Given the description of an element on the screen output the (x, y) to click on. 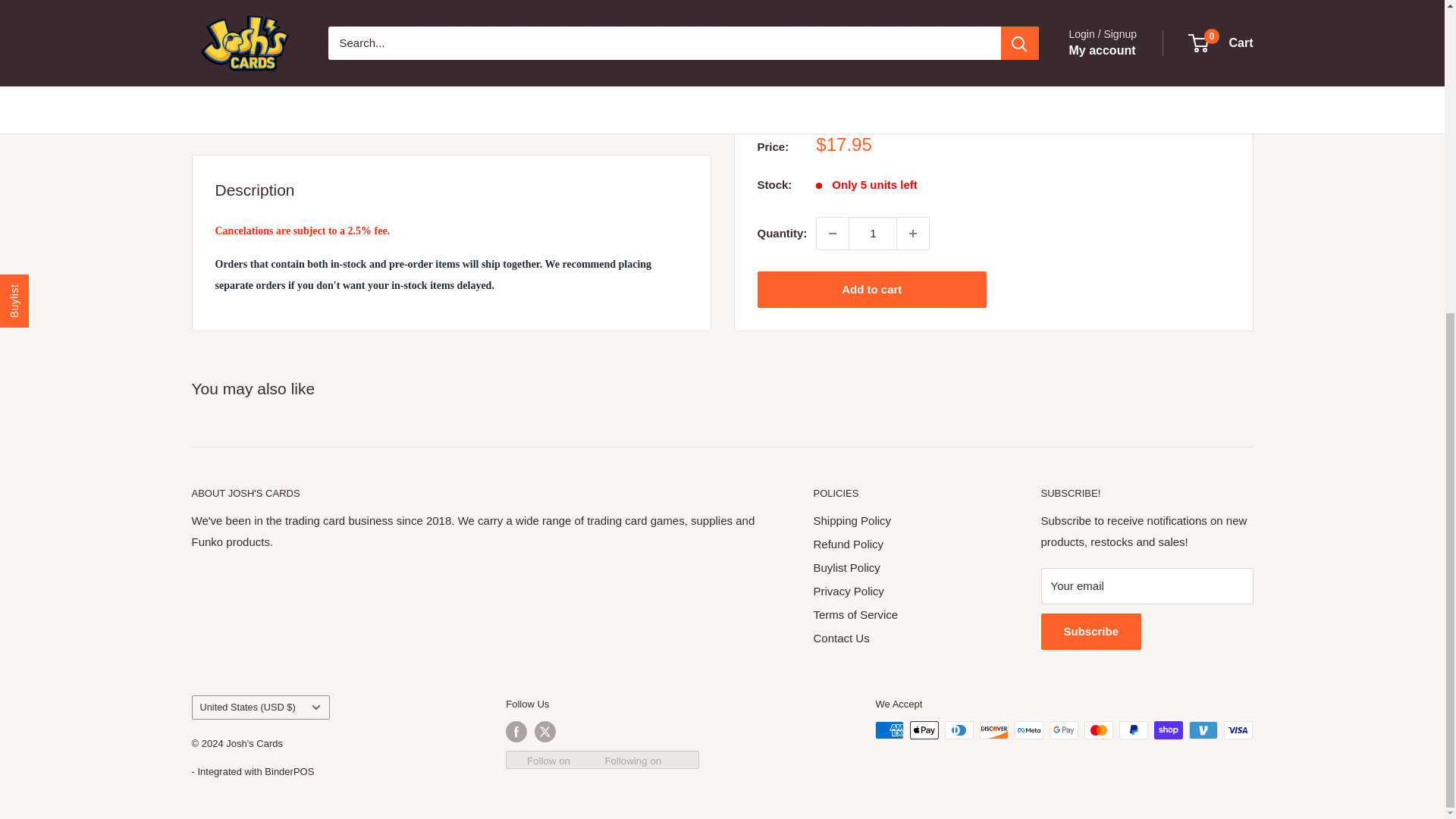
Add to cart (872, 23)
